Given the description of an element on the screen output the (x, y) to click on. 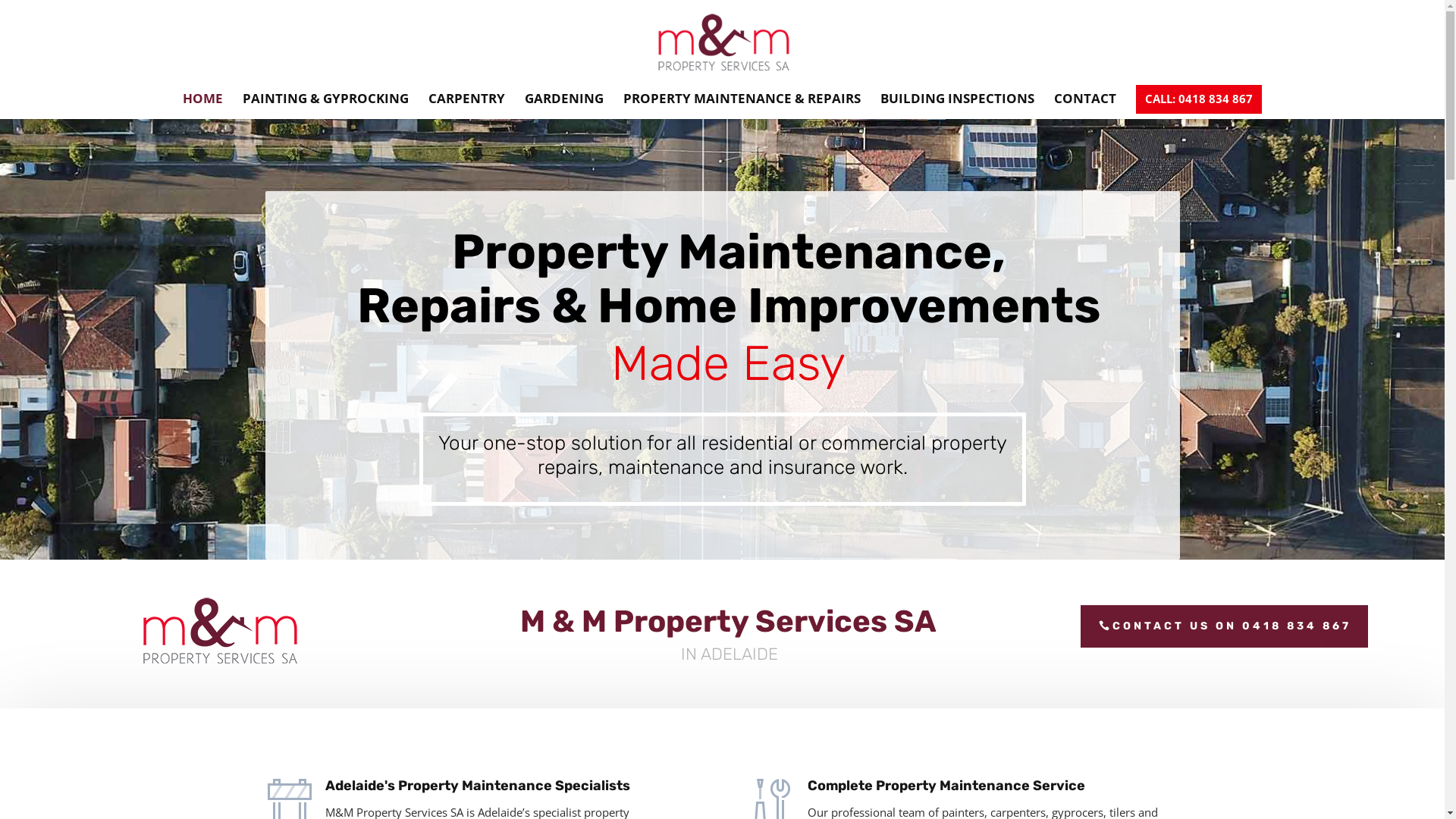
CARPENTRY Element type: text (466, 106)
CONTACT Element type: text (1085, 106)
CALL: 0418 834 867 Element type: text (1198, 98)
CONTACT US ON 0418 834 867 Element type: text (1224, 626)
PAINTING & GYPROCKING Element type: text (325, 106)
GARDENING Element type: text (563, 106)
BUILDING INSPECTIONS Element type: text (957, 106)
PROPERTY MAINTENANCE & REPAIRS Element type: text (741, 106)
M and M Property Services SA Element type: hover (220, 630)
HOME Element type: text (202, 106)
